Given the description of an element on the screen output the (x, y) to click on. 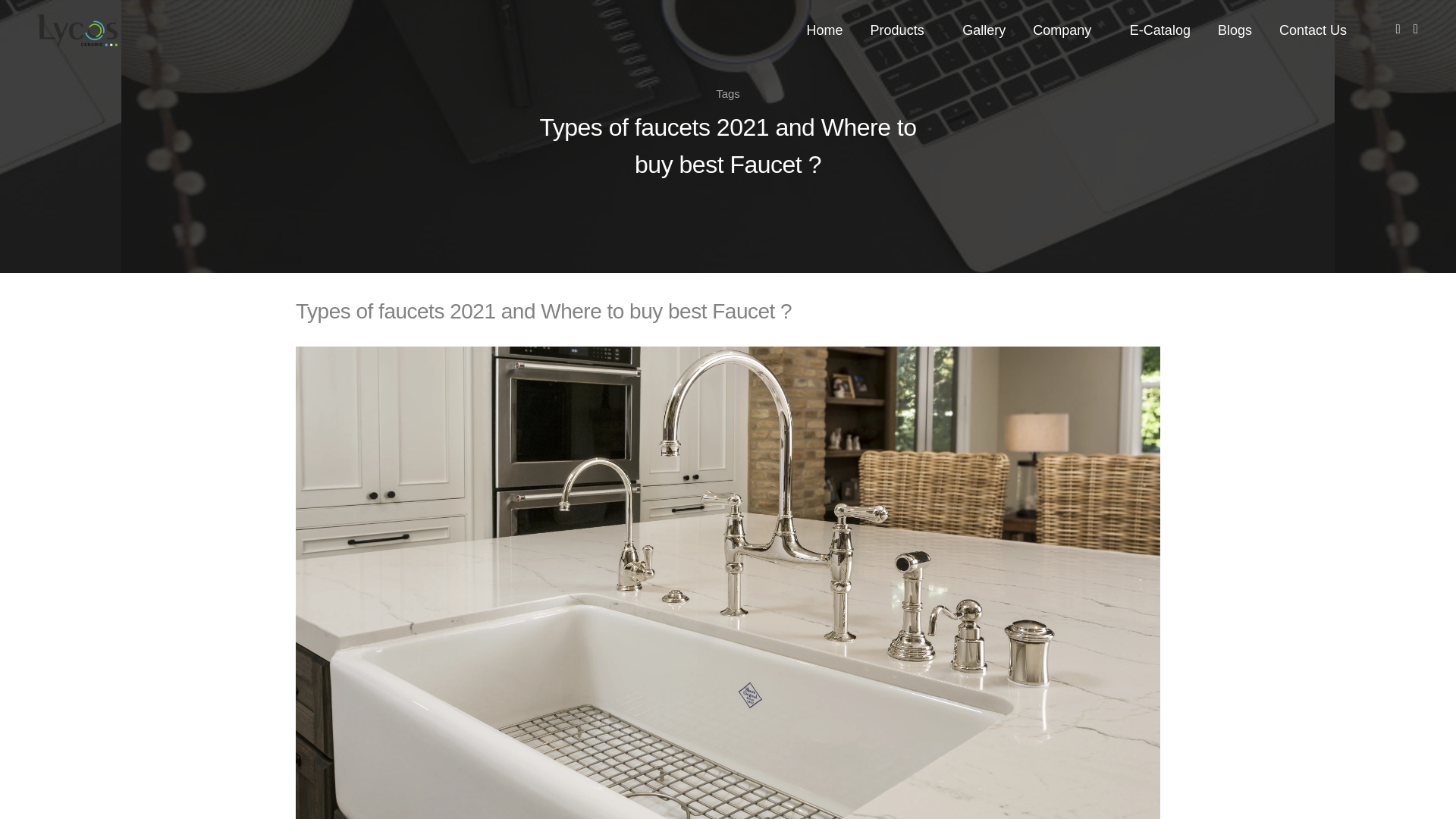
Company (1067, 30)
Products (903, 30)
